Given the description of an element on the screen output the (x, y) to click on. 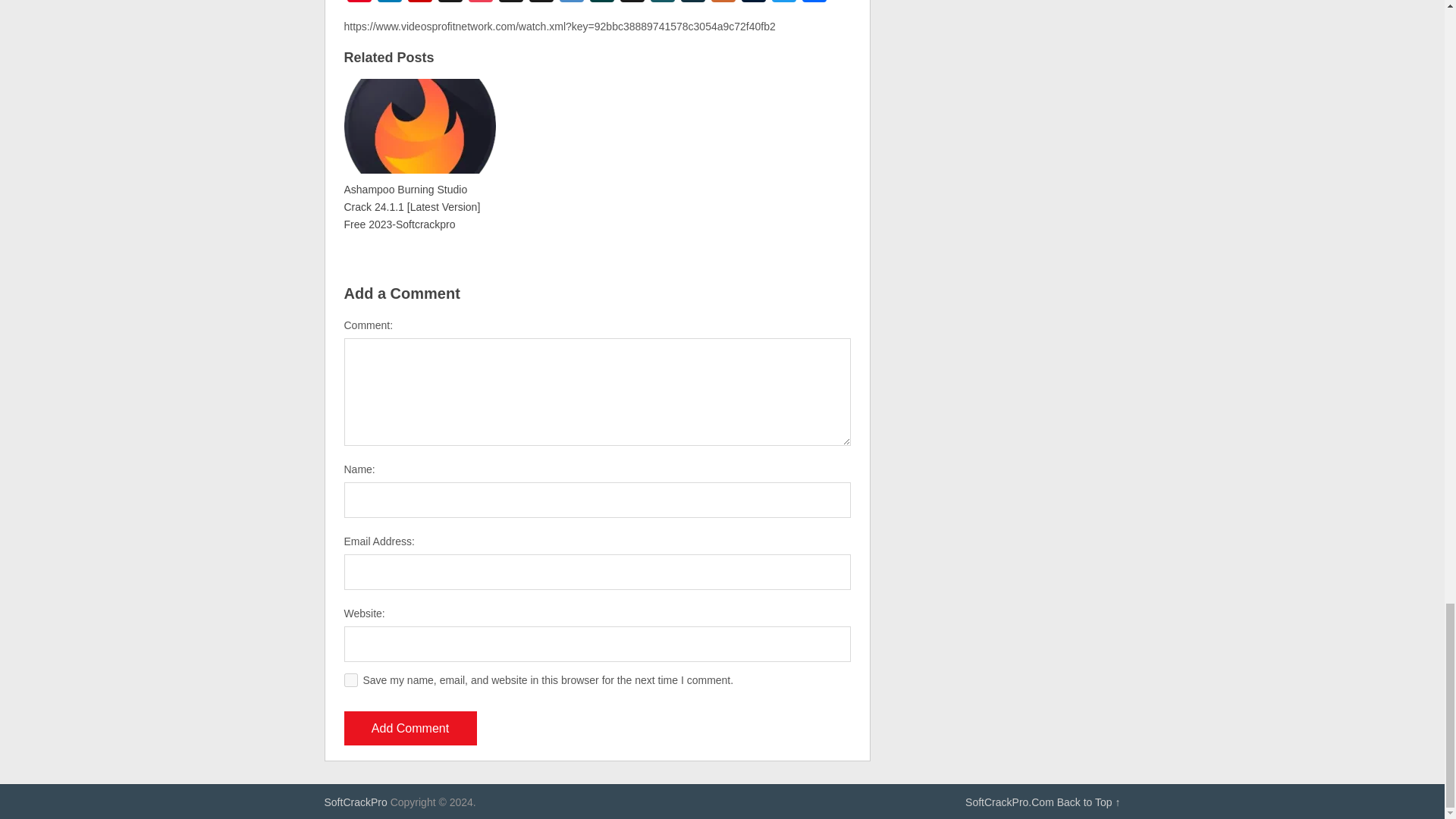
Pinterest (358, 2)
Slashdot (601, 2)
Diigo (571, 2)
Pocket (480, 2)
Diigo (571, 2)
Pinterest (358, 2)
yes (350, 680)
BibSonomy (510, 2)
Digg (540, 2)
Flipboard (419, 2)
Digg (540, 2)
Flipboard (419, 2)
Instapaper (450, 2)
Add Comment (410, 728)
BibSonomy (510, 2)
